Given the description of an element on the screen output the (x, y) to click on. 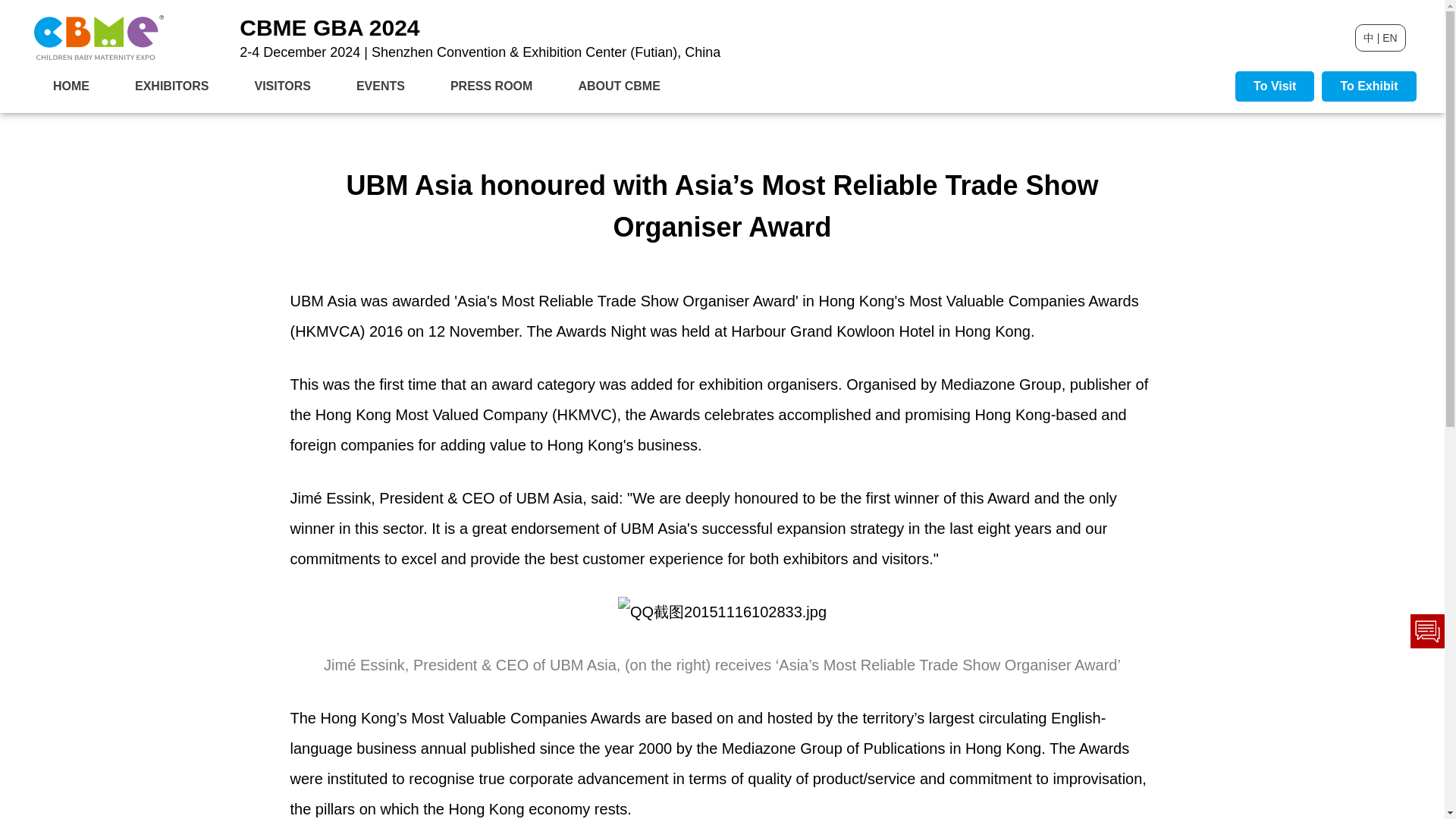
PRESS ROOM (491, 86)
ABOUT CBME (618, 86)
VISITORS (282, 86)
EVENTS (380, 86)
To Exhibit (1368, 86)
HOME (71, 86)
1447642598140336.jpg (722, 612)
EN (1388, 37)
EXHIBITORS (171, 86)
To Visit (1274, 86)
